Given the description of an element on the screen output the (x, y) to click on. 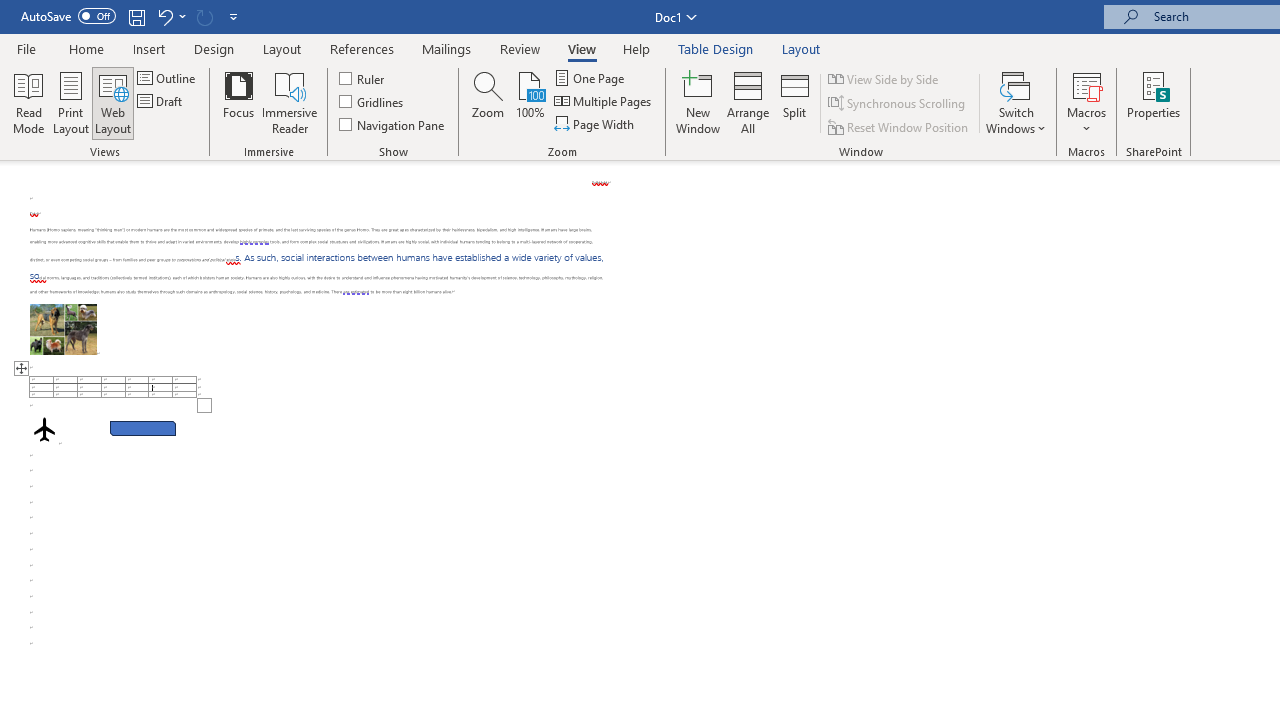
Properties (1153, 102)
References (362, 48)
AutoSave (68, 16)
Morphological variation in six dogs (63, 328)
Navigation Pane (392, 124)
More Options (1086, 121)
Ruler (362, 78)
One Page (590, 78)
Read Mode (28, 102)
Arrange All (747, 102)
Print Layout (70, 102)
Zoom... (488, 102)
Home (86, 48)
View Macros (1086, 84)
